Given the description of an element on the screen output the (x, y) to click on. 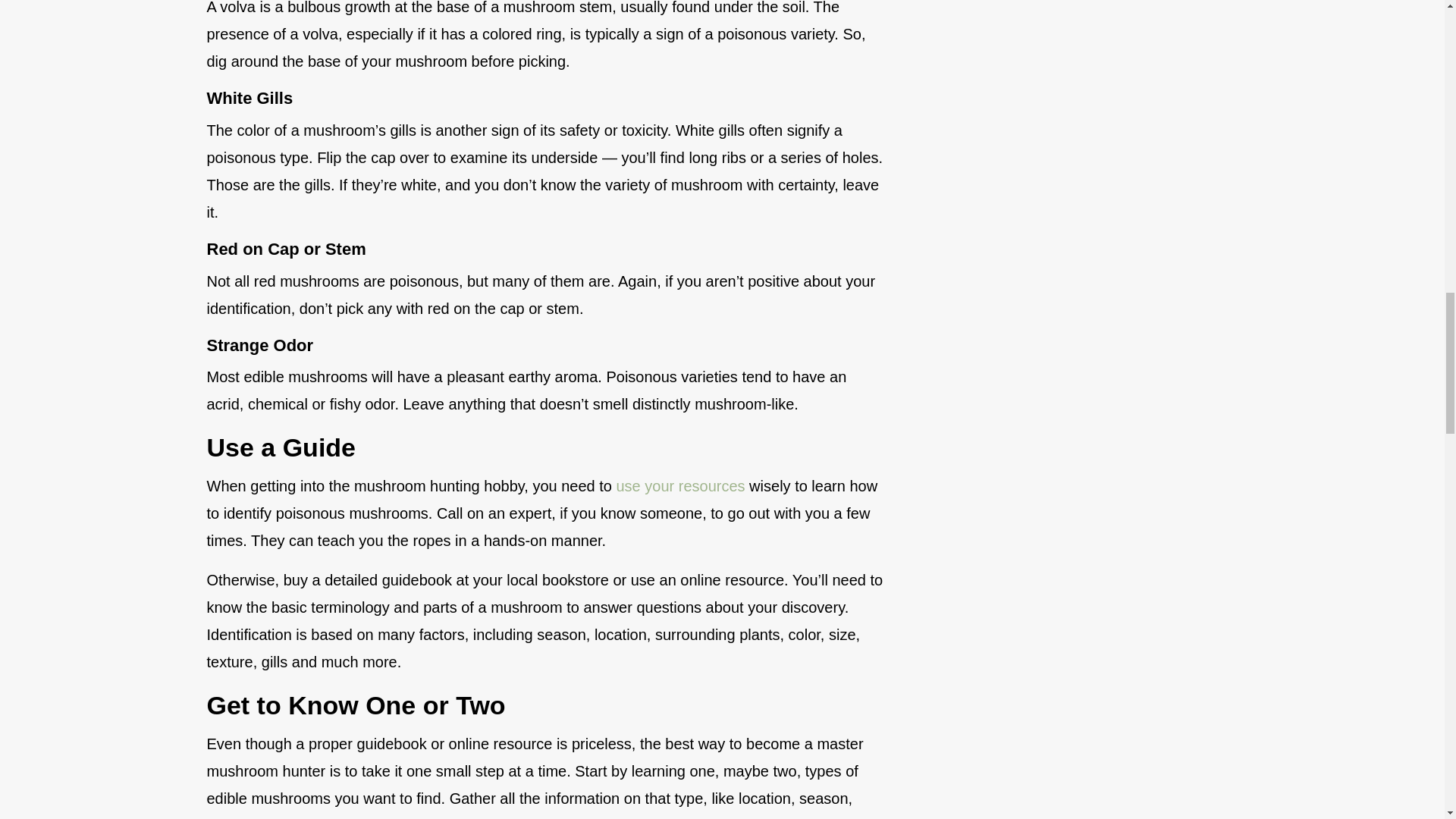
use your resources (679, 485)
